Given the description of an element on the screen output the (x, y) to click on. 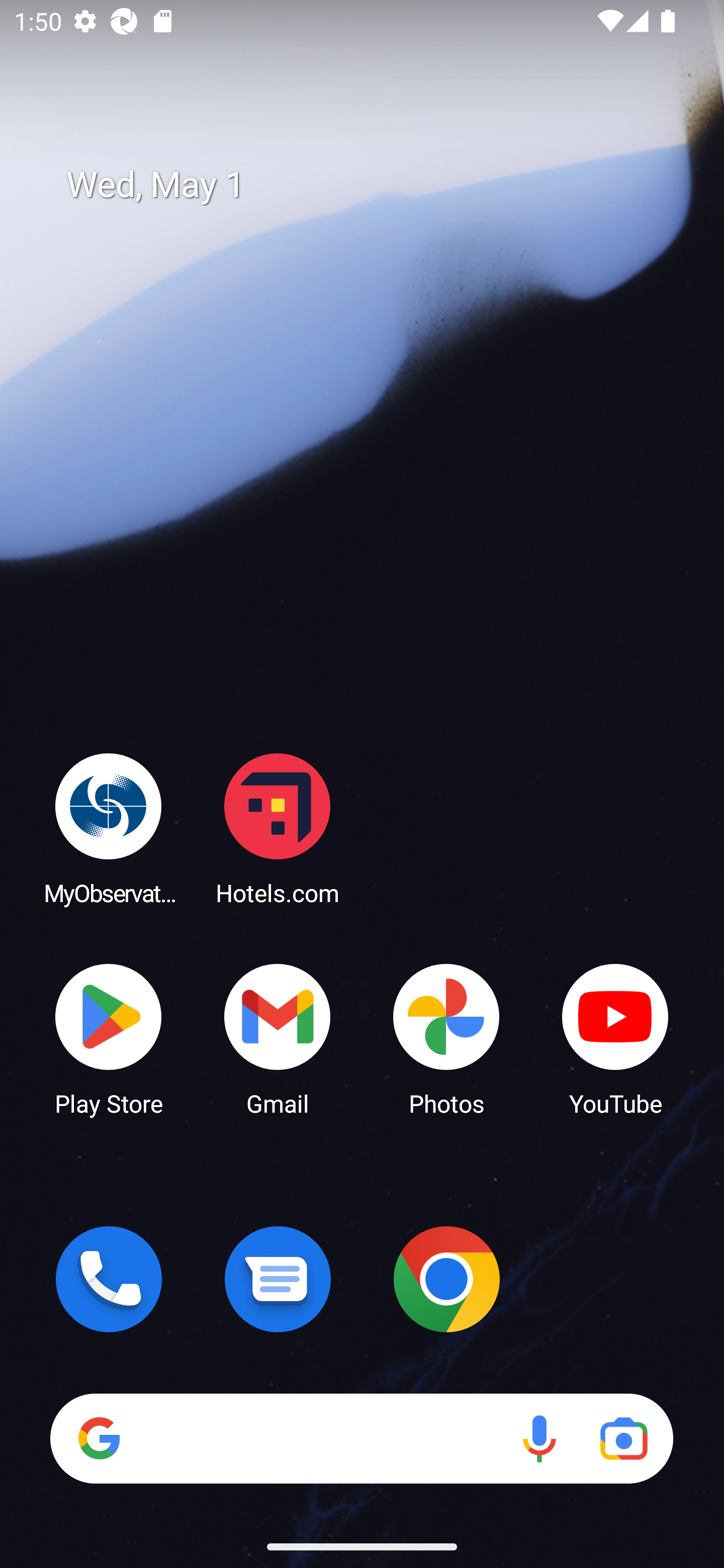
Wed, May 1 (375, 184)
MyObservatory (108, 828)
Hotels.com (277, 828)
Play Store (108, 1038)
Gmail (277, 1038)
Photos (445, 1038)
YouTube (615, 1038)
Phone (108, 1279)
Messages (277, 1279)
Chrome (446, 1279)
Search Voice search Google Lens (361, 1438)
Voice search (539, 1438)
Google Lens (623, 1438)
